Given the description of an element on the screen output the (x, y) to click on. 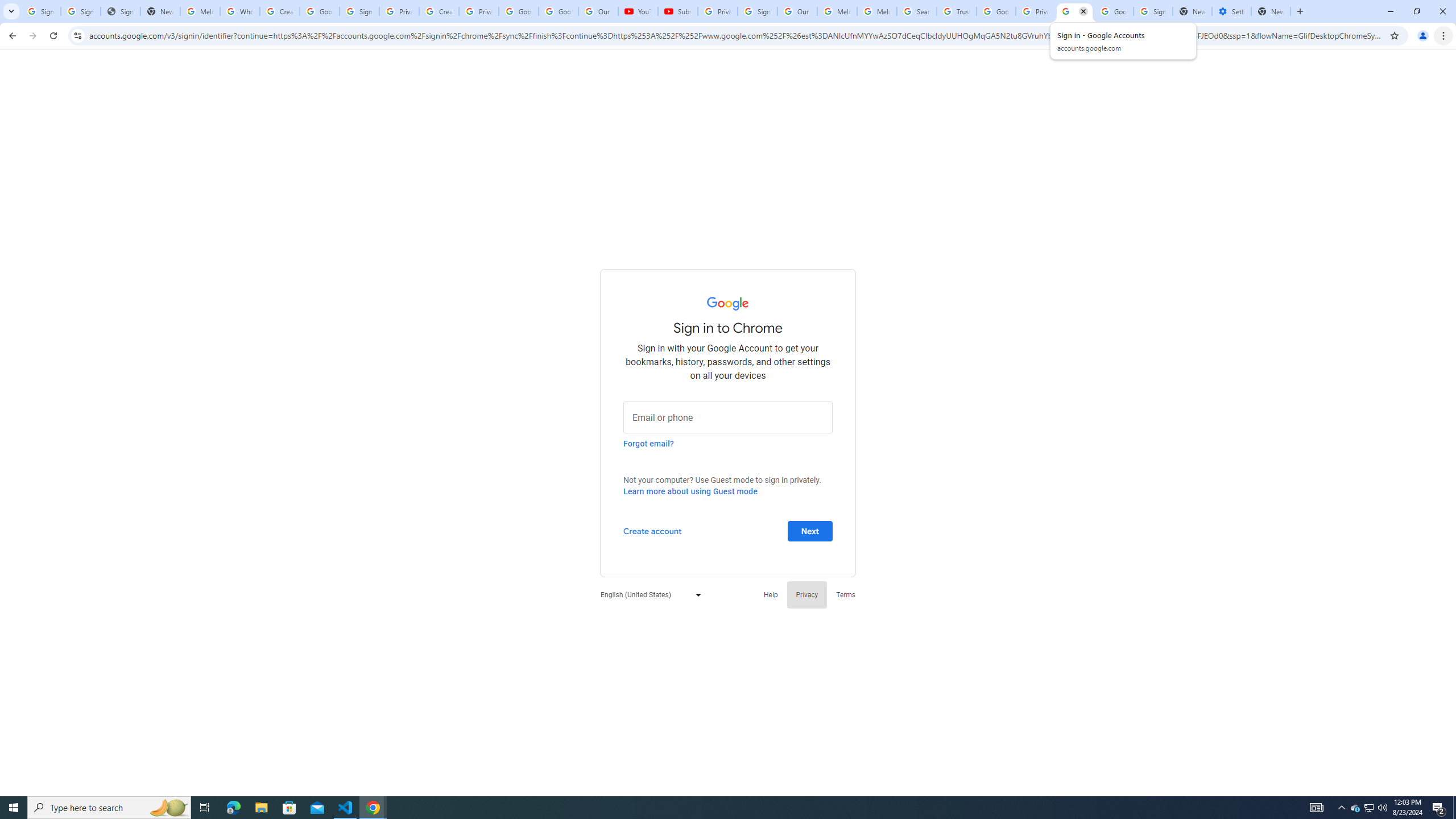
Trusted Information and Content - Google Safety Center (956, 11)
Search our Doodle Library Collection - Google Doodles (916, 11)
Sign in - Google Accounts (359, 11)
Who is my administrator? - Google Account Help (239, 11)
Forgot email? (648, 443)
English (United States) (647, 594)
New Tab (1270, 11)
